Given the description of an element on the screen output the (x, y) to click on. 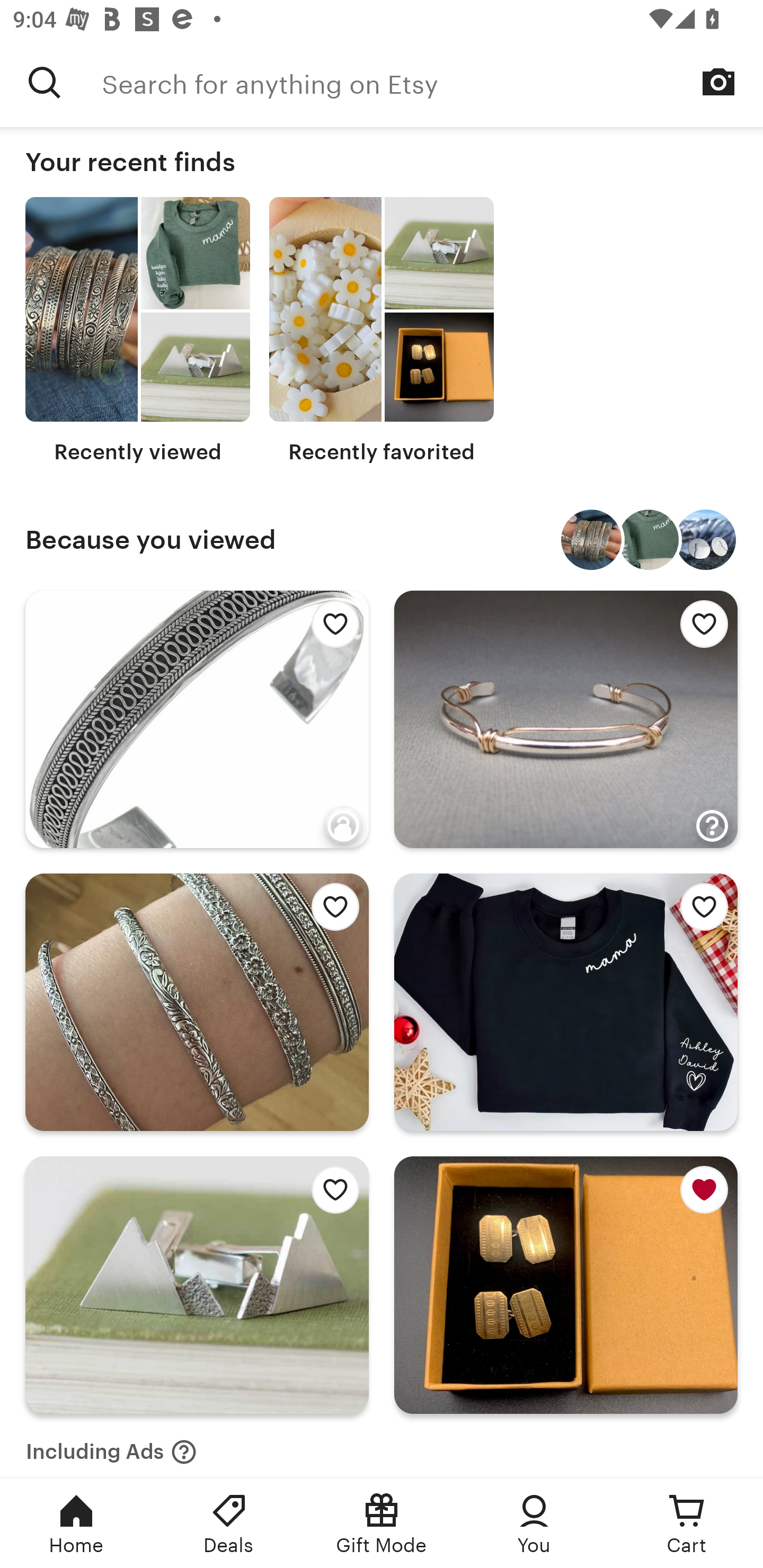
Search for anything on Etsy (44, 82)
Search by image (718, 81)
Search for anything on Etsy (432, 82)
Recently viewed (137, 330)
Recently favorited (381, 330)
Including Ads (111, 1446)
Deals (228, 1523)
Gift Mode (381, 1523)
You (533, 1523)
Cart (686, 1523)
